Given the description of an element on the screen output the (x, y) to click on. 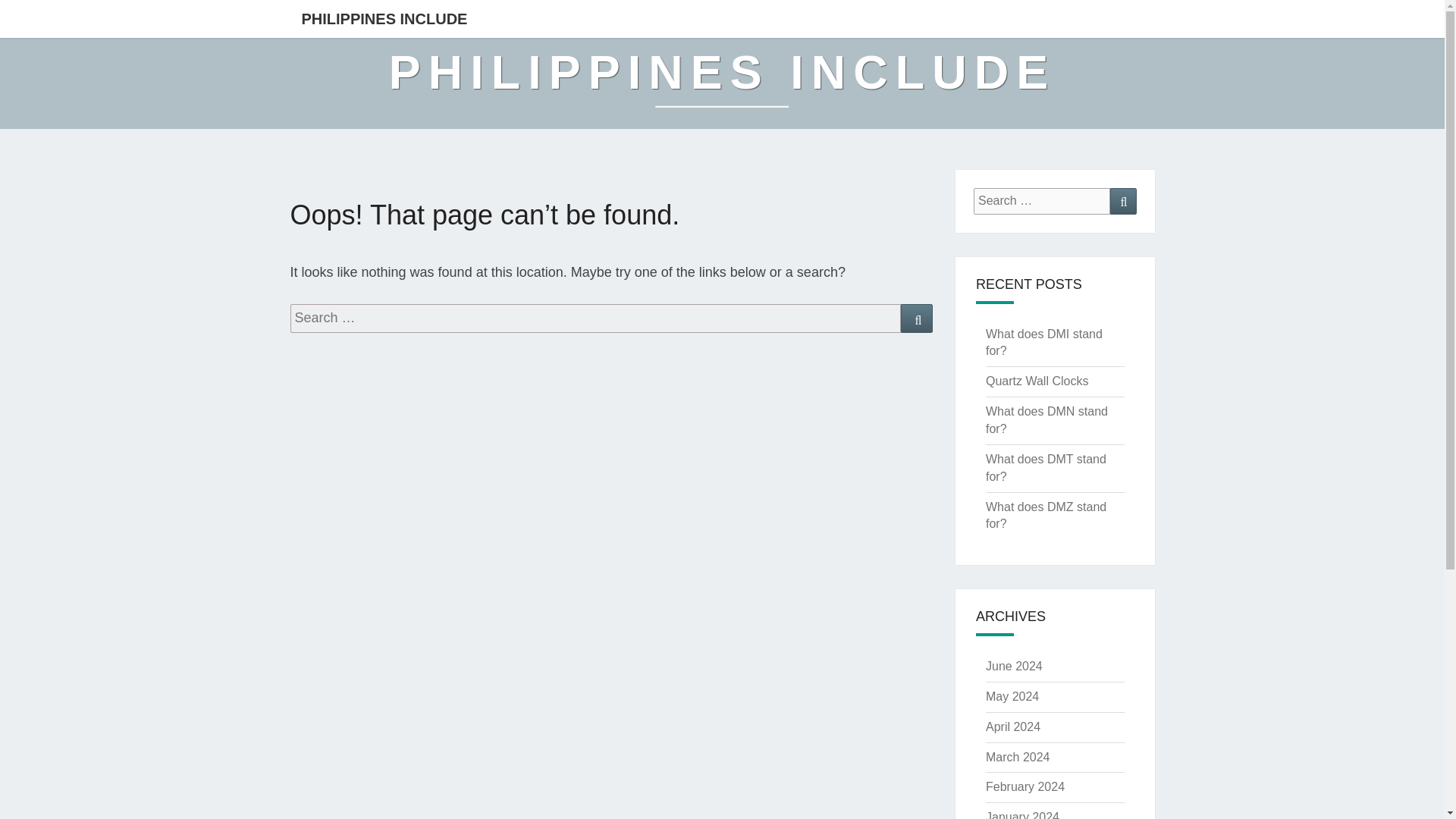
What does DMT stand for? (1045, 467)
What does DMN stand for? (1046, 419)
January 2024 (1022, 814)
Search (917, 317)
Search for: (1041, 201)
Search for: (595, 317)
Philippines Include (722, 82)
What does DMI stand for? (1043, 342)
PHILIPPINES INCLUDE (722, 82)
PHILIPPINES INCLUDE (384, 18)
What does DMZ stand for? (1045, 515)
June 2024 (1013, 666)
Search (1123, 201)
May 2024 (1012, 696)
Quartz Wall Clocks (1036, 380)
